Given the description of an element on the screen output the (x, y) to click on. 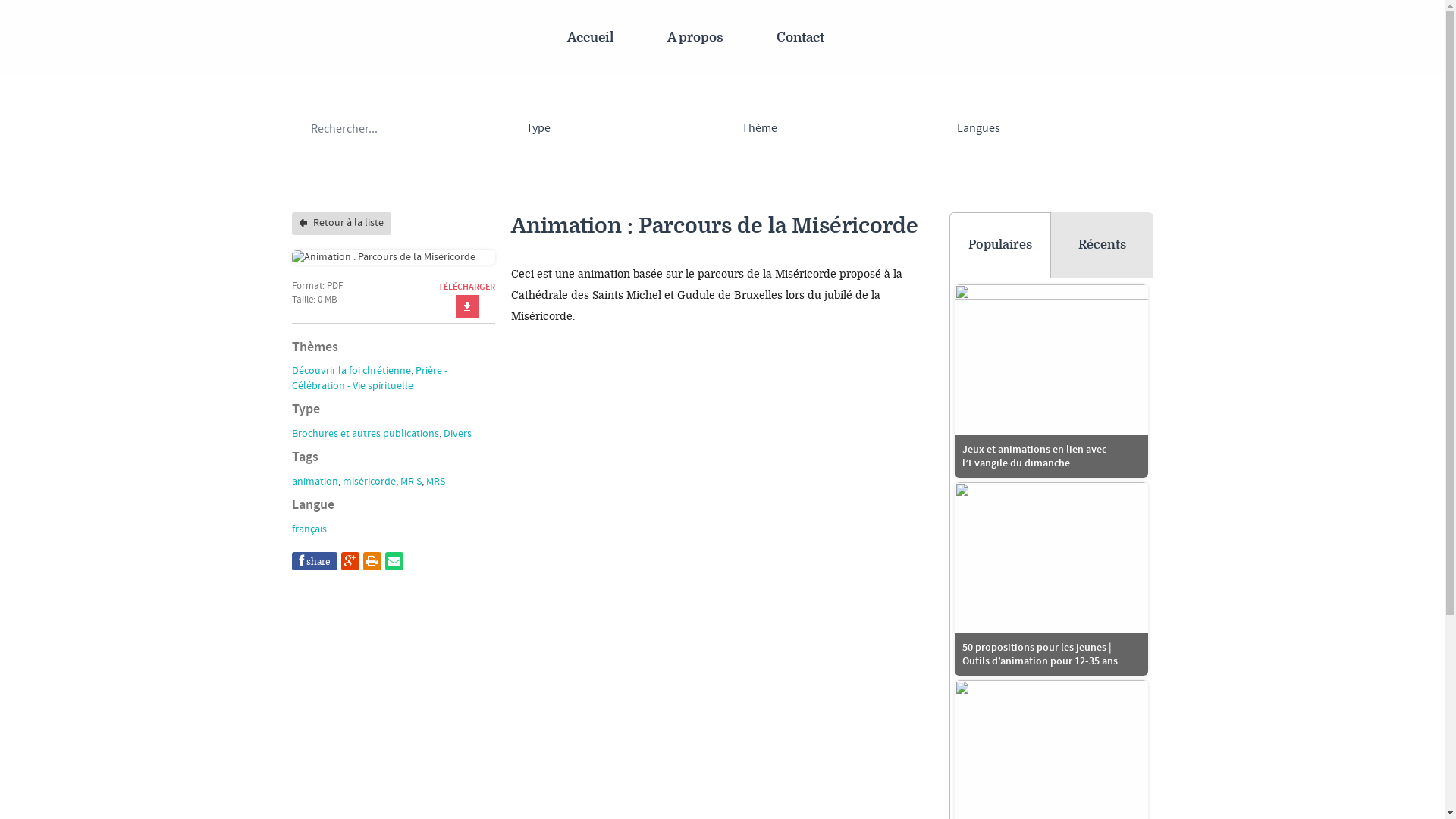
MRS Element type: text (435, 481)
Divers Element type: text (456, 433)
Contact Element type: text (800, 37)
Langues Element type: text (1045, 128)
Accueil Element type: text (590, 37)
Cathoutils Element type: text (88, 37)
Populaires Element type: text (1000, 245)
Brochures et autres publications Element type: text (364, 433)
Type Element type: text (614, 128)
animation Element type: text (314, 481)
MR-S Element type: text (410, 481)
A propos Element type: text (695, 37)
